Given the description of an element on the screen output the (x, y) to click on. 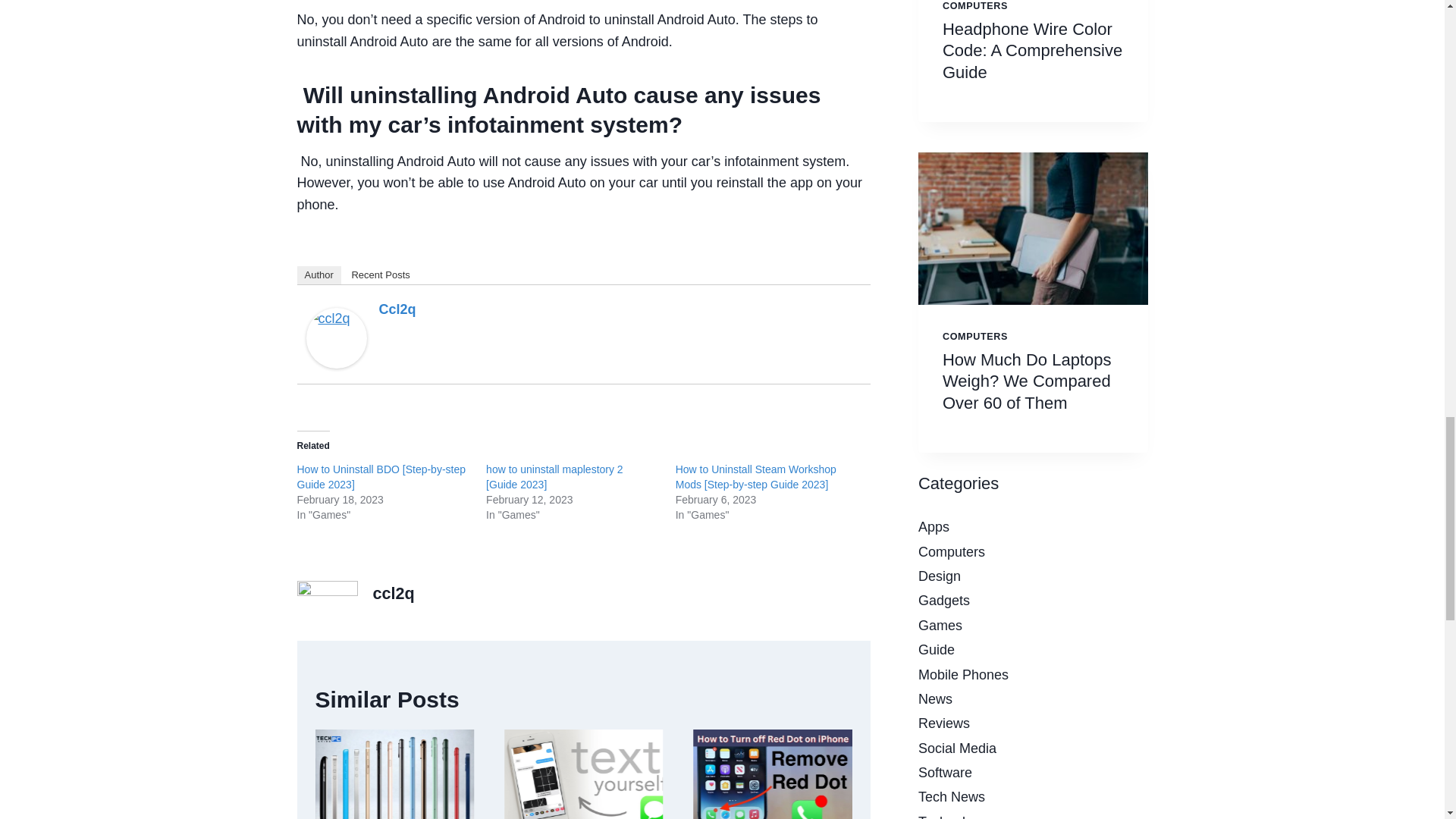
Ccl2q (397, 309)
Recent Posts (379, 275)
ccl2q (335, 337)
Author (318, 275)
